Given the description of an element on the screen output the (x, y) to click on. 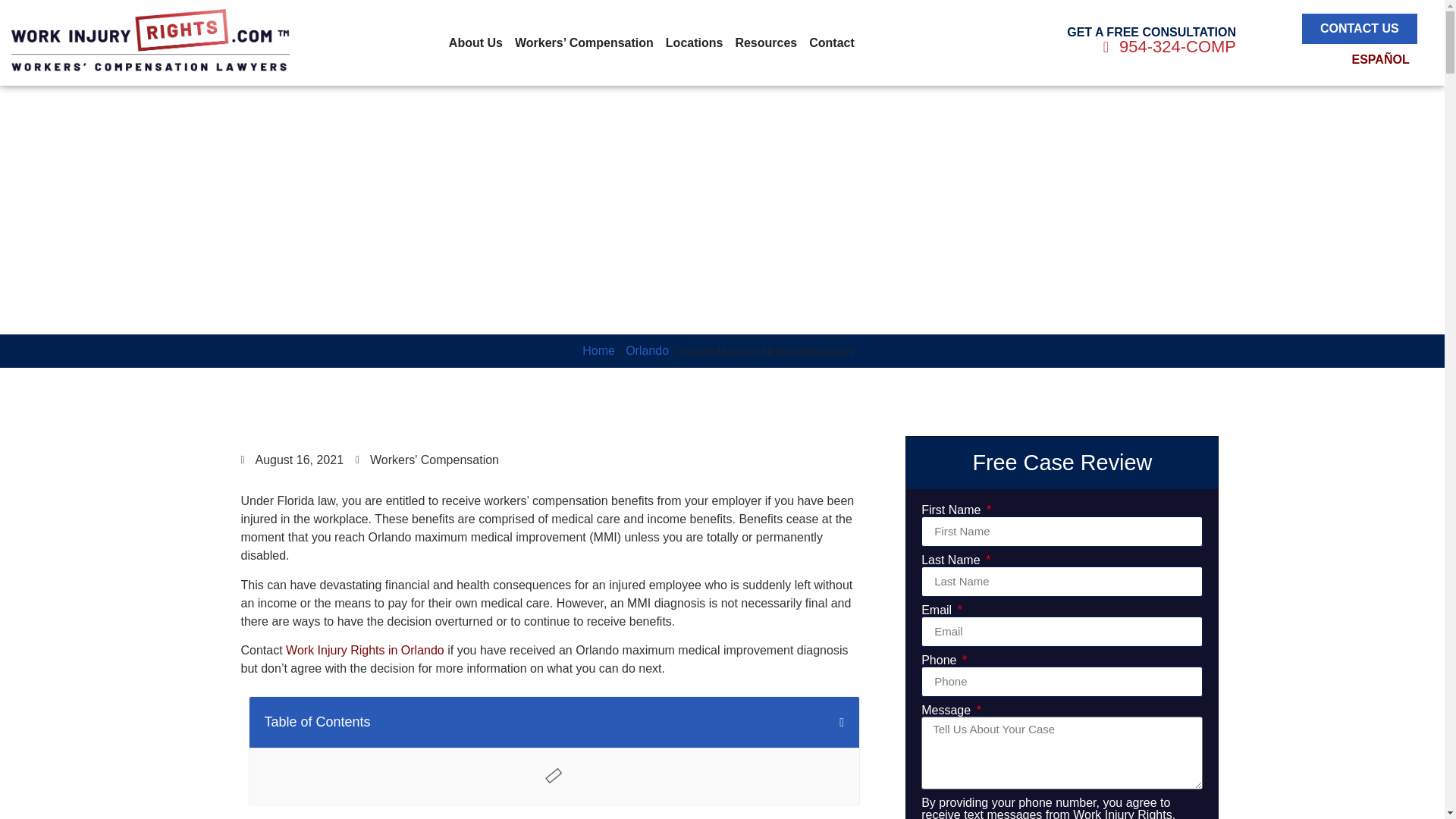
About Us (475, 43)
Contact (831, 43)
Resources (766, 43)
Locations (694, 43)
